Given the description of an element on the screen output the (x, y) to click on. 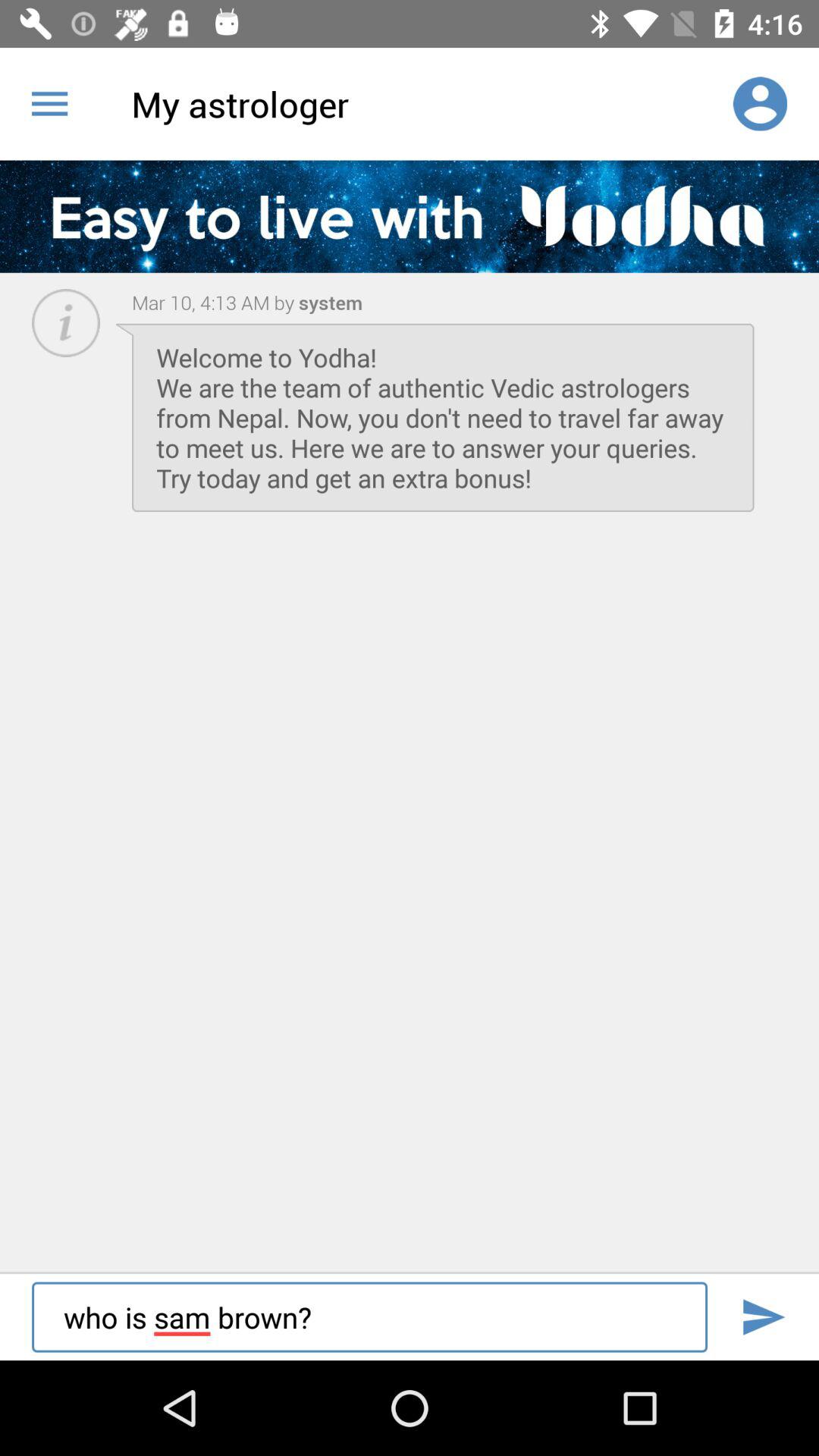
turn off item next to mar 10 4 (328, 301)
